Given the description of an element on the screen output the (x, y) to click on. 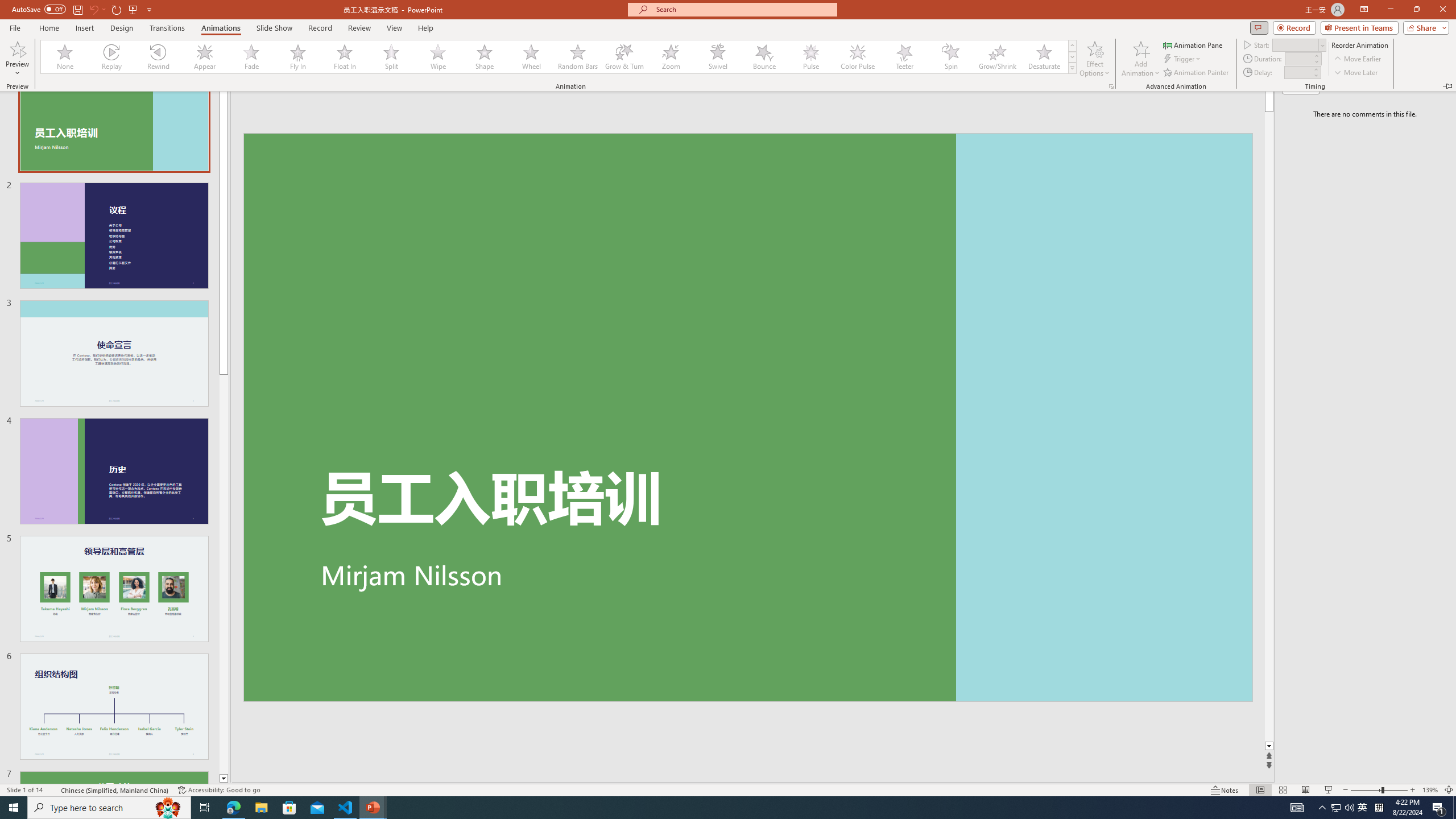
Class: MsoCommandBar (728, 789)
Task View (204, 807)
Tray Input Indicator - Chinese (Simplified, China) (1378, 807)
Accessibility Checker Accessibility: Good to go (218, 790)
AutomationID: 4105 (1297, 807)
Notification Chevron (1322, 807)
